Given the description of an element on the screen output the (x, y) to click on. 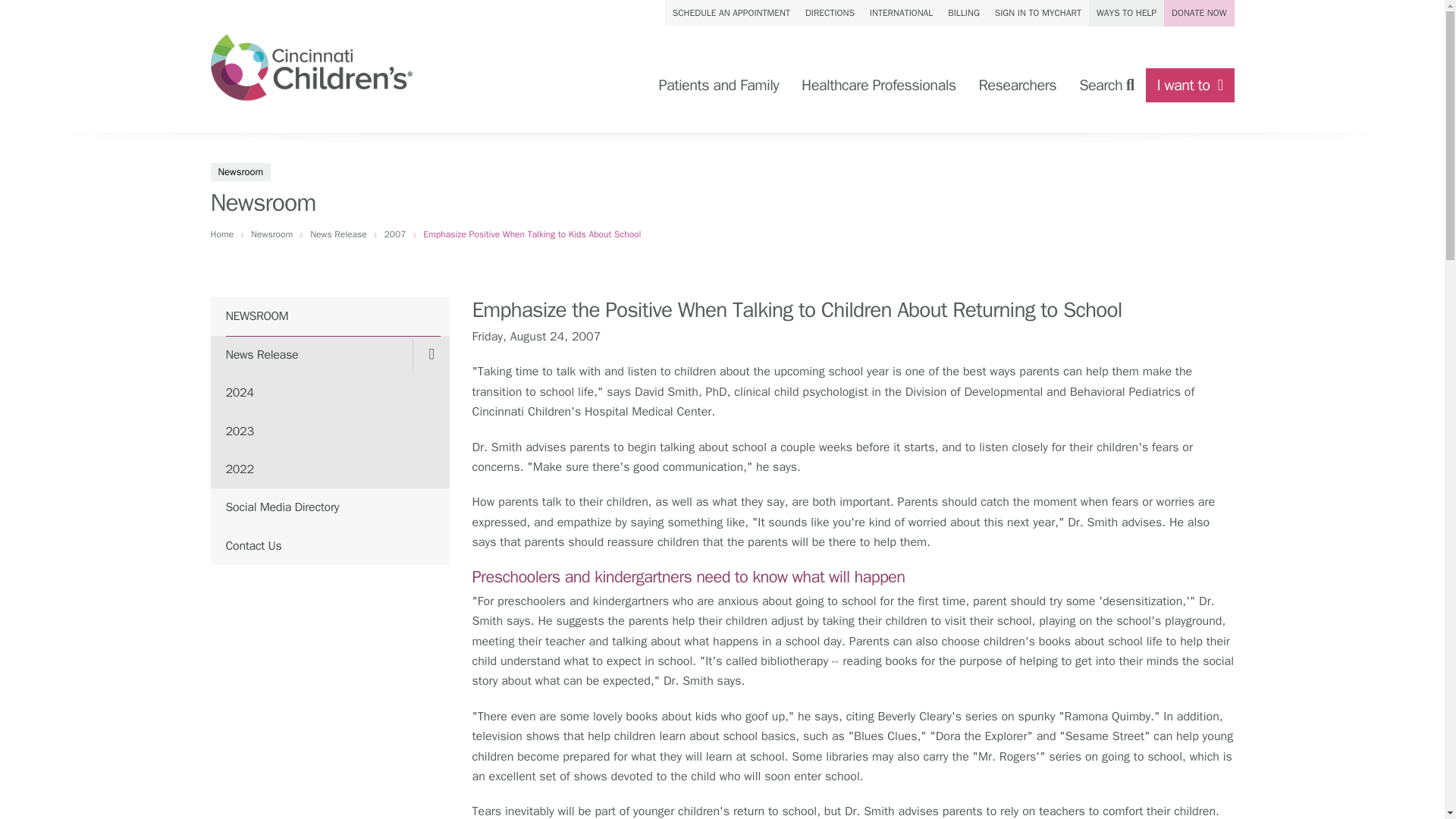
Healthcare Professionals (878, 84)
SIGN IN TO MYCHART (1038, 13)
SIgn in to mychart. (1038, 13)
SCHEDULE AN APPOINTMENT (731, 13)
Resources for international patients.  (900, 13)
BILLING (963, 13)
Researchers (1018, 84)
INTERNATIONAL (900, 13)
View locations and directions.  (829, 13)
Schedule an appointment.  (731, 13)
Give now to Cincinnati Children's (1198, 13)
DIRECTIONS (829, 13)
Patients and Family (718, 84)
Pay Your Bill. (963, 13)
DONATE NOW (1198, 13)
